Given the description of an element on the screen output the (x, y) to click on. 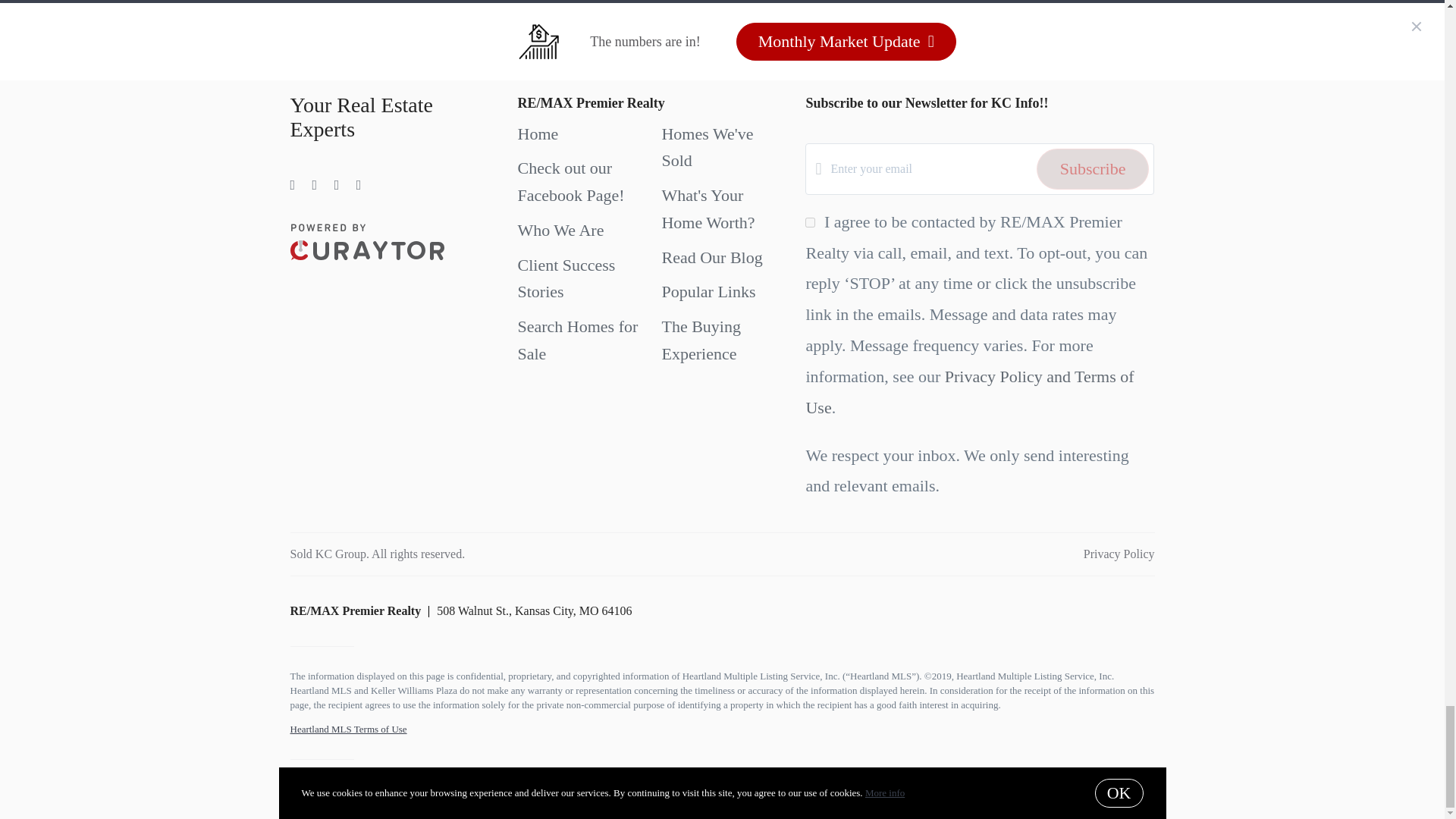
curaytor-horizontal (366, 241)
on (810, 222)
